Given the description of an element on the screen output the (x, y) to click on. 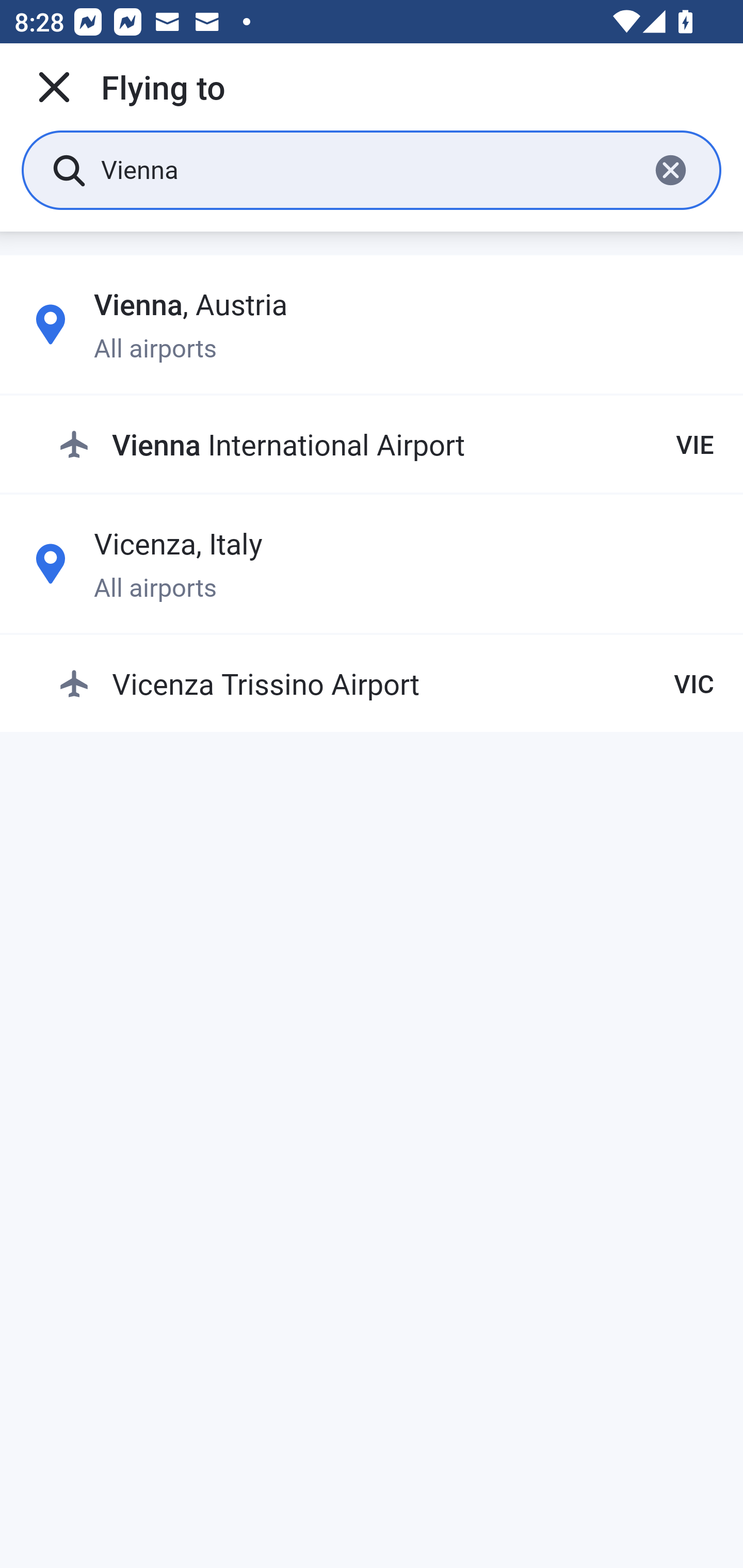
Vienna (367, 169)
Vienna, Austria All airports (371, 324)
Vienna International Airport VIE (385, 444)
Vicenza, Italy All airports (371, 563)
Vicenza Trissino Airport VIC (385, 682)
